Given the description of an element on the screen output the (x, y) to click on. 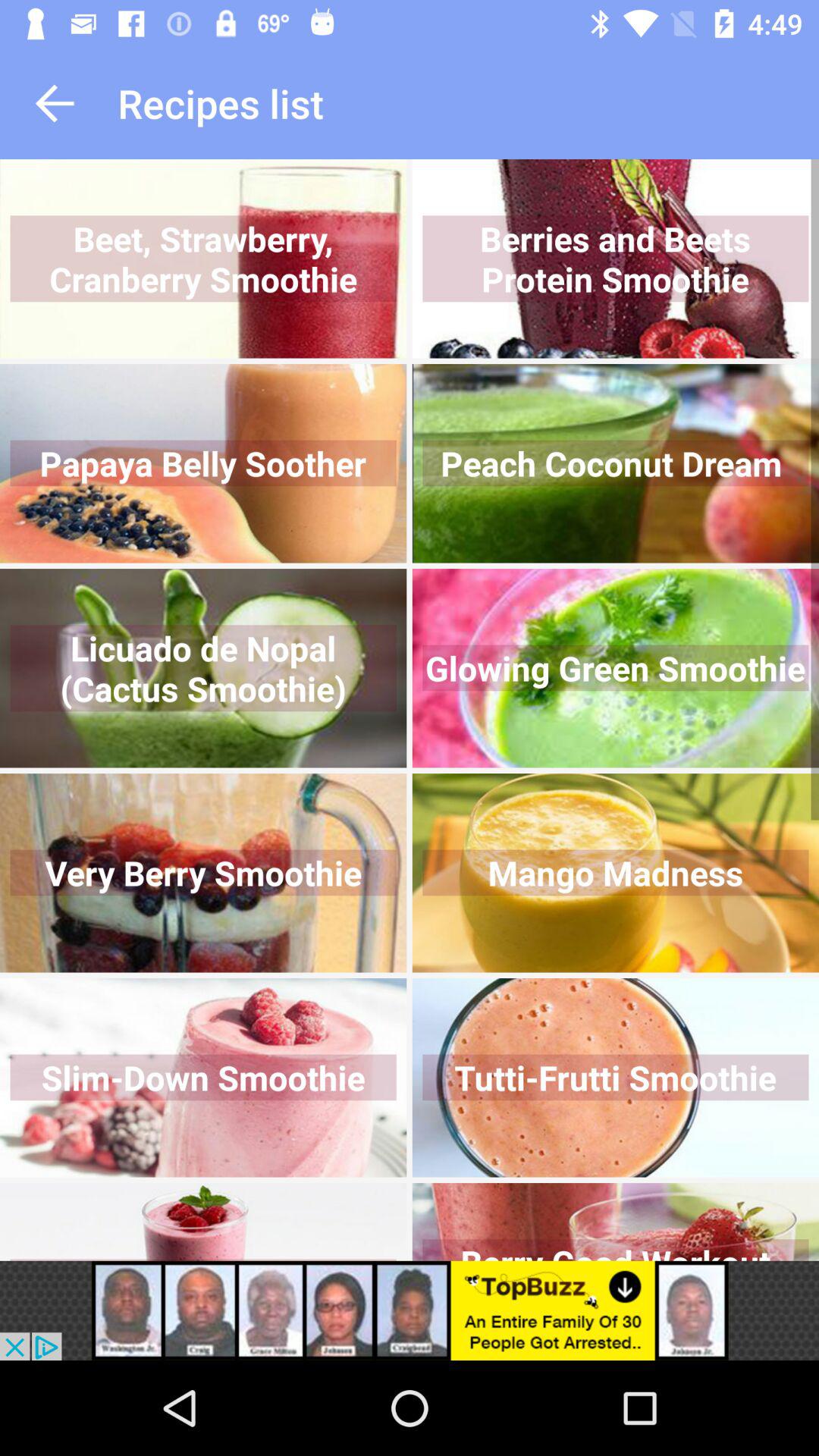
adverstisment (409, 1310)
